Given the description of an element on the screen output the (x, y) to click on. 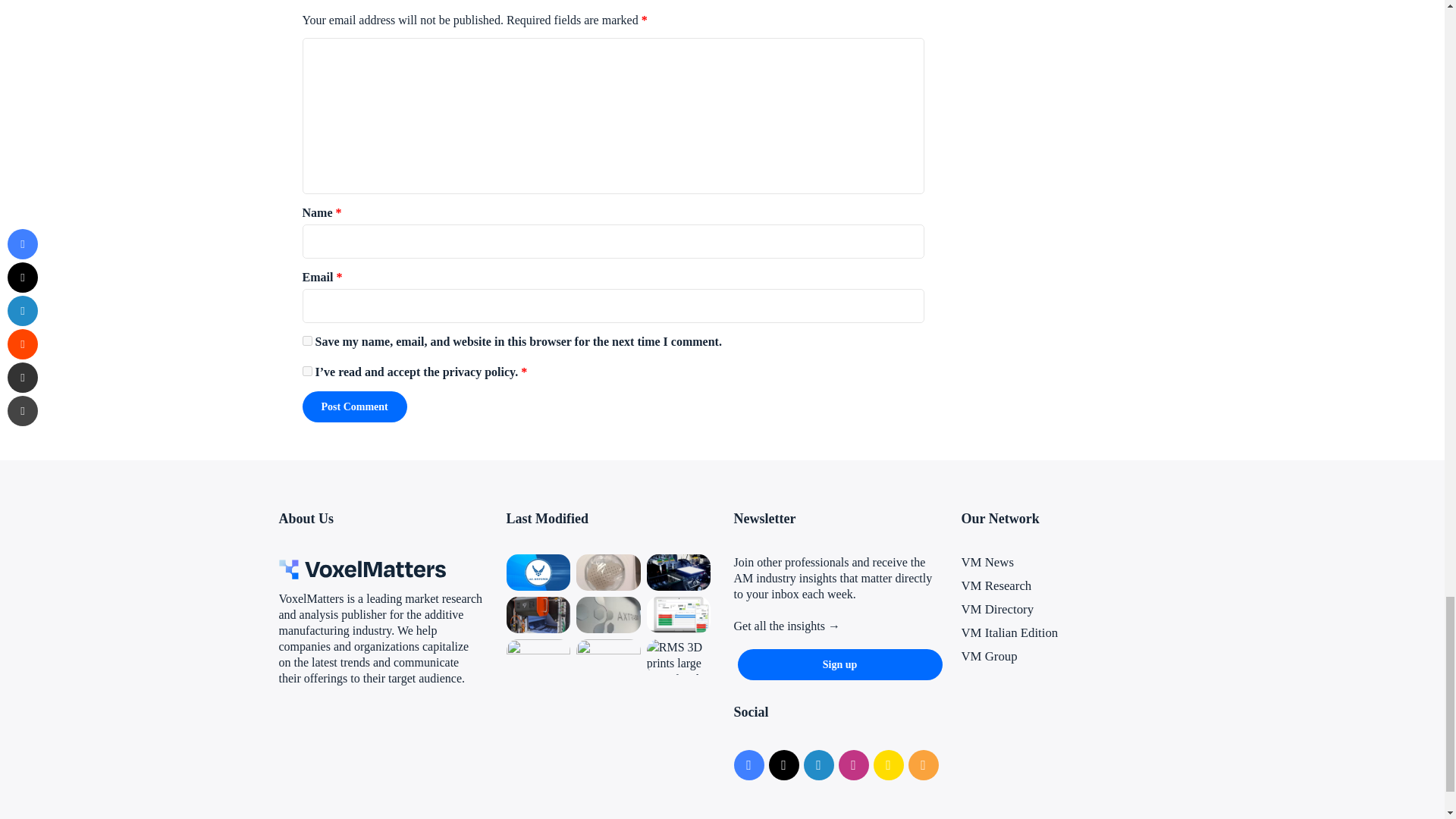
yes (306, 340)
Post Comment (353, 406)
Sign up (839, 664)
on (306, 370)
